Given the description of an element on the screen output the (x, y) to click on. 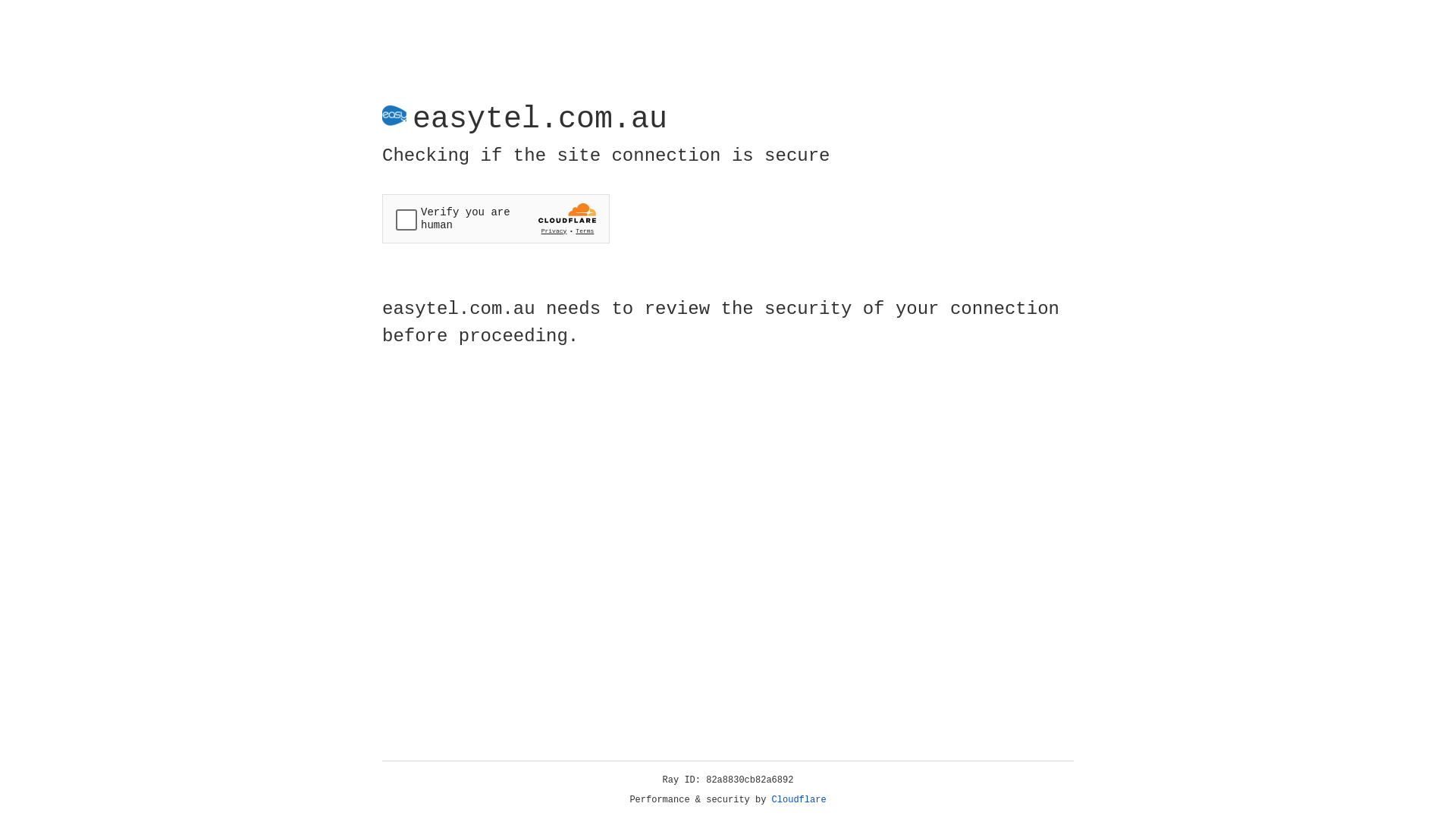
Widget containing a Cloudflare security challenge Element type: hover (495, 218)
Cloudflare Element type: text (798, 799)
